Given the description of an element on the screen output the (x, y) to click on. 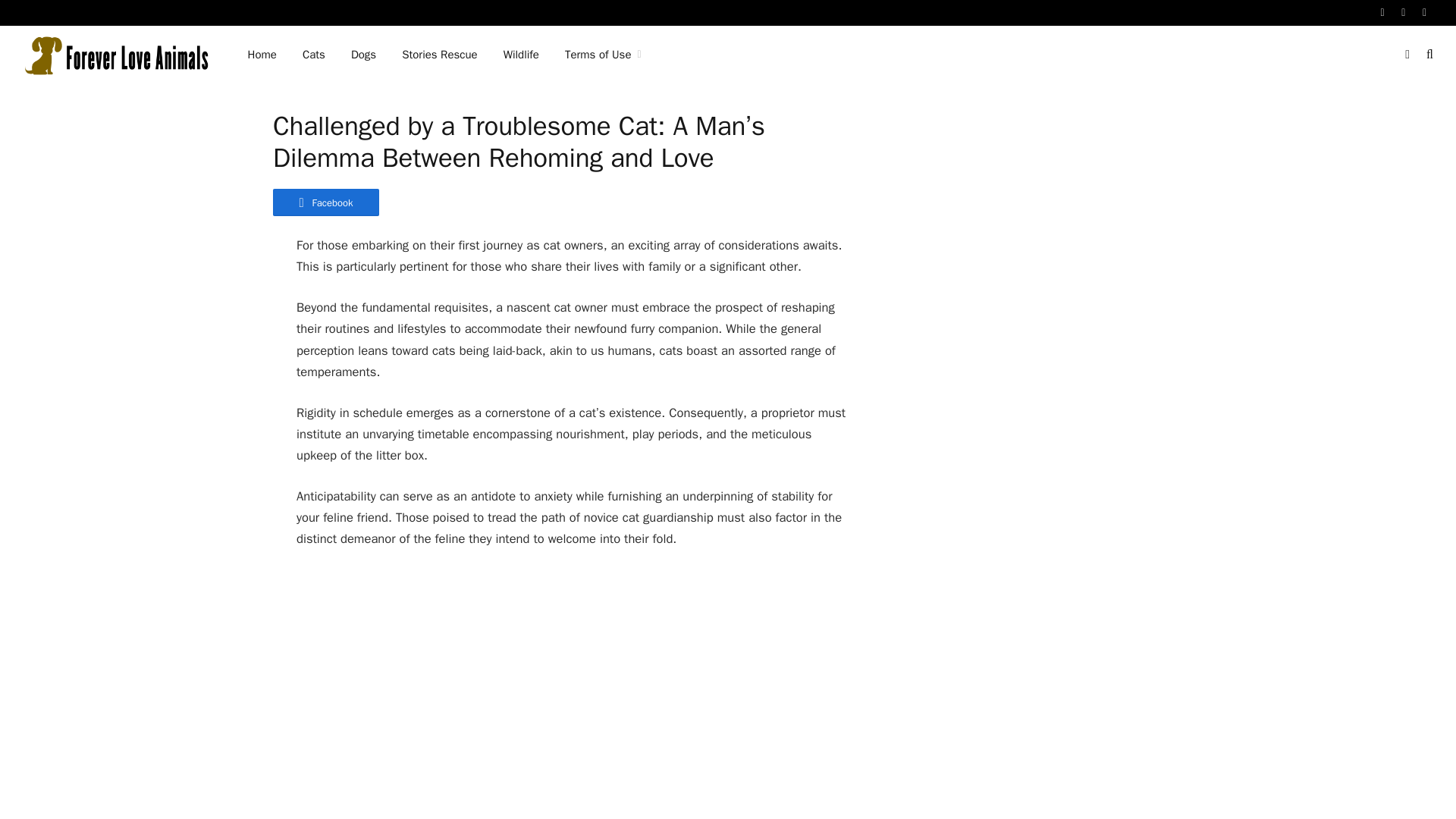
LoveAnimals (115, 54)
Home (261, 54)
Facebook (325, 202)
Share on Facebook (325, 202)
Switch to Dark Design - easier on eyes. (1406, 54)
Stories Rescue (438, 54)
Terms of Use (602, 54)
Wildlife (520, 54)
